Given the description of an element on the screen output the (x, y) to click on. 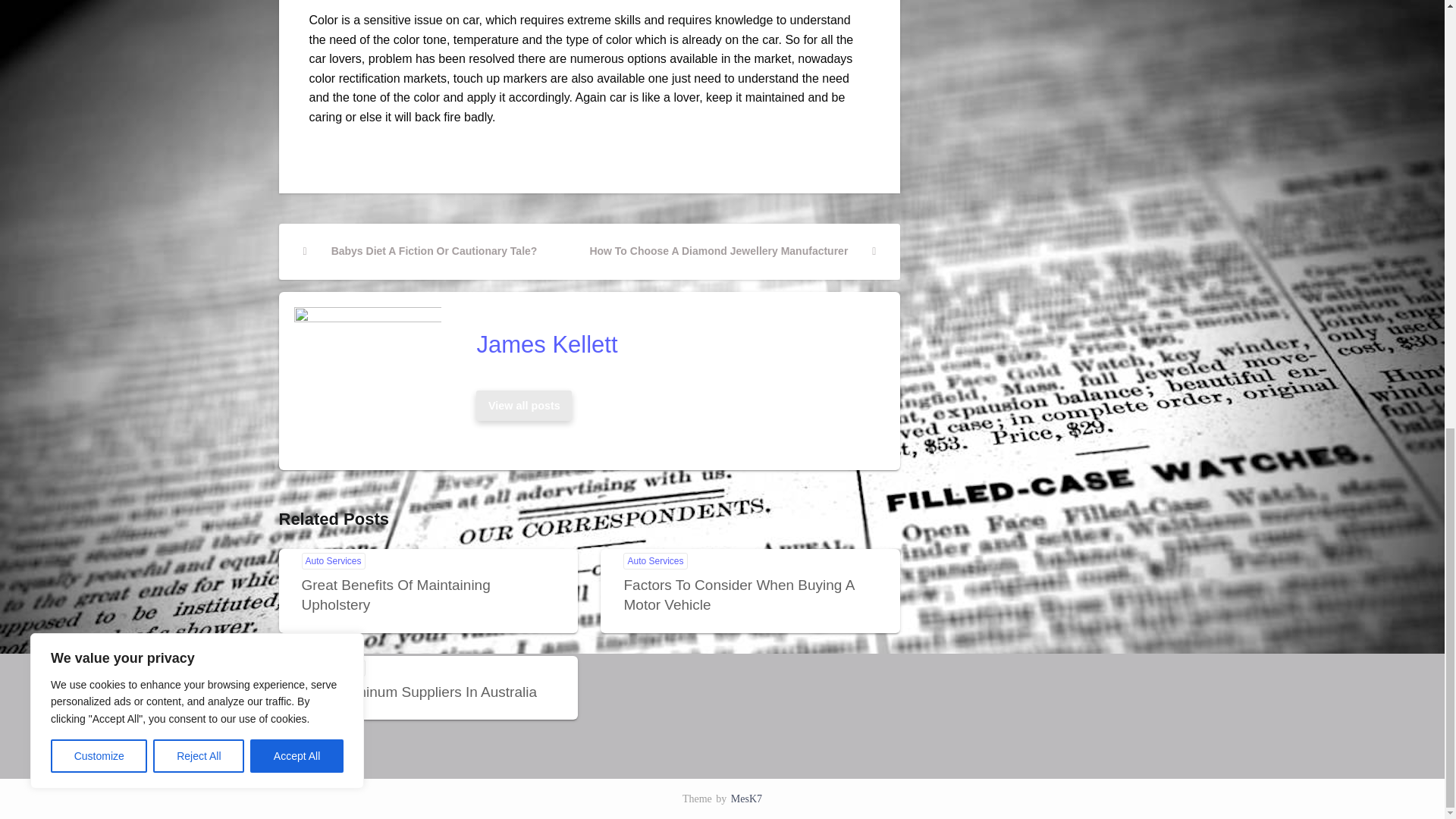
James Kellett (420, 251)
View all posts (674, 344)
Great Benefits Of Maintaining Upholstery (524, 405)
Factors To Consider When Buying A Motor Vehicle (395, 595)
Auto Services (738, 595)
Best Aluminum Suppliers In Australia (655, 560)
View all posts (419, 691)
Auto Services (523, 405)
Auto Services (333, 668)
